Given the description of an element on the screen output the (x, y) to click on. 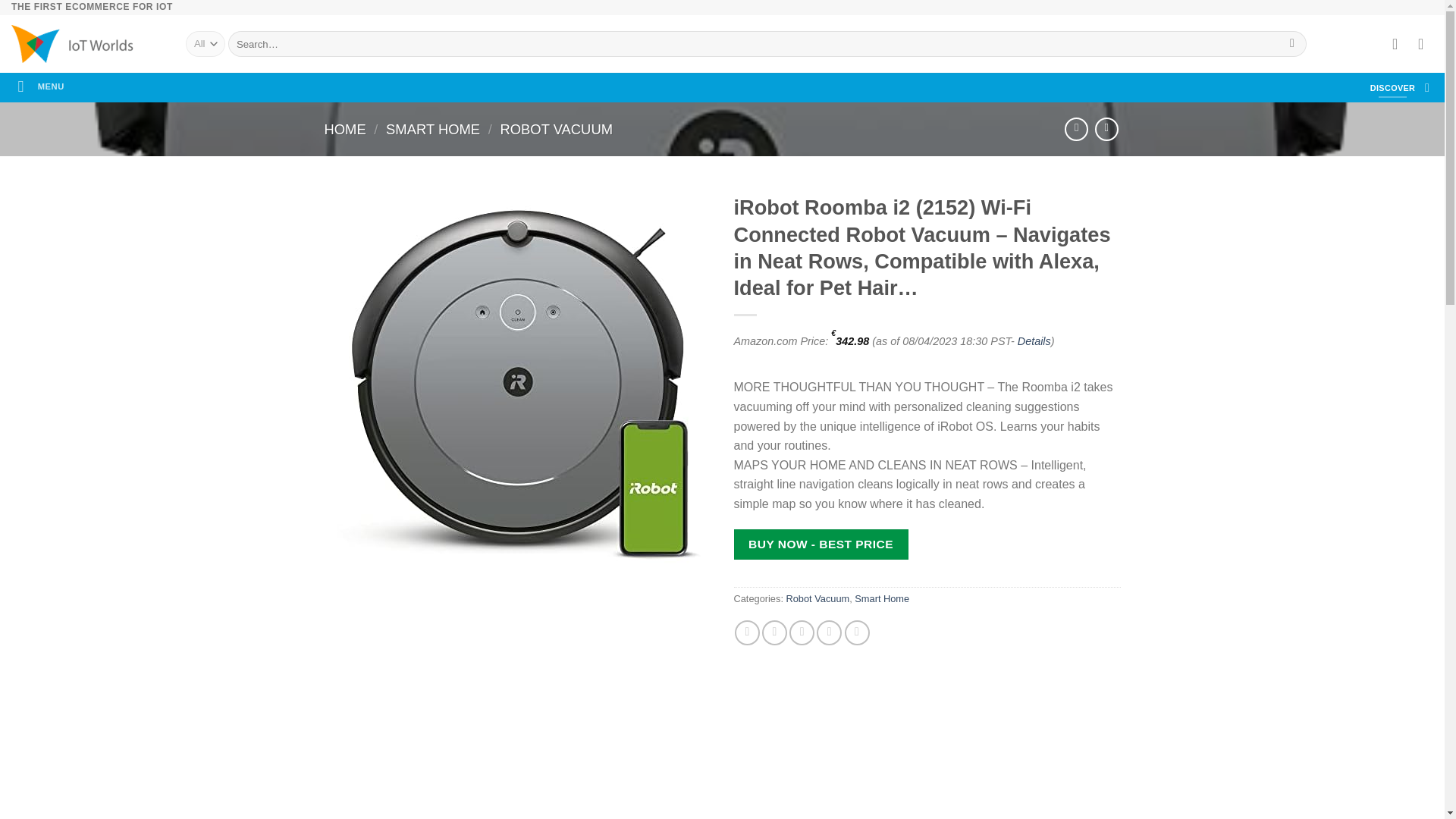
SMART HOME (432, 129)
Share on Facebook (747, 632)
MENU (40, 86)
ROBOT VACUUM (555, 129)
Robot Vacuum (817, 598)
IoT Worlds Ecommerce - The 1st Ecommerce for IoT (87, 44)
Cart (1425, 43)
BUY NOW - BEST PRICE (820, 543)
Smart Home (881, 598)
Details (1034, 340)
HOME (345, 129)
DISCOVER (1392, 87)
Search (1291, 43)
